Given the description of an element on the screen output the (x, y) to click on. 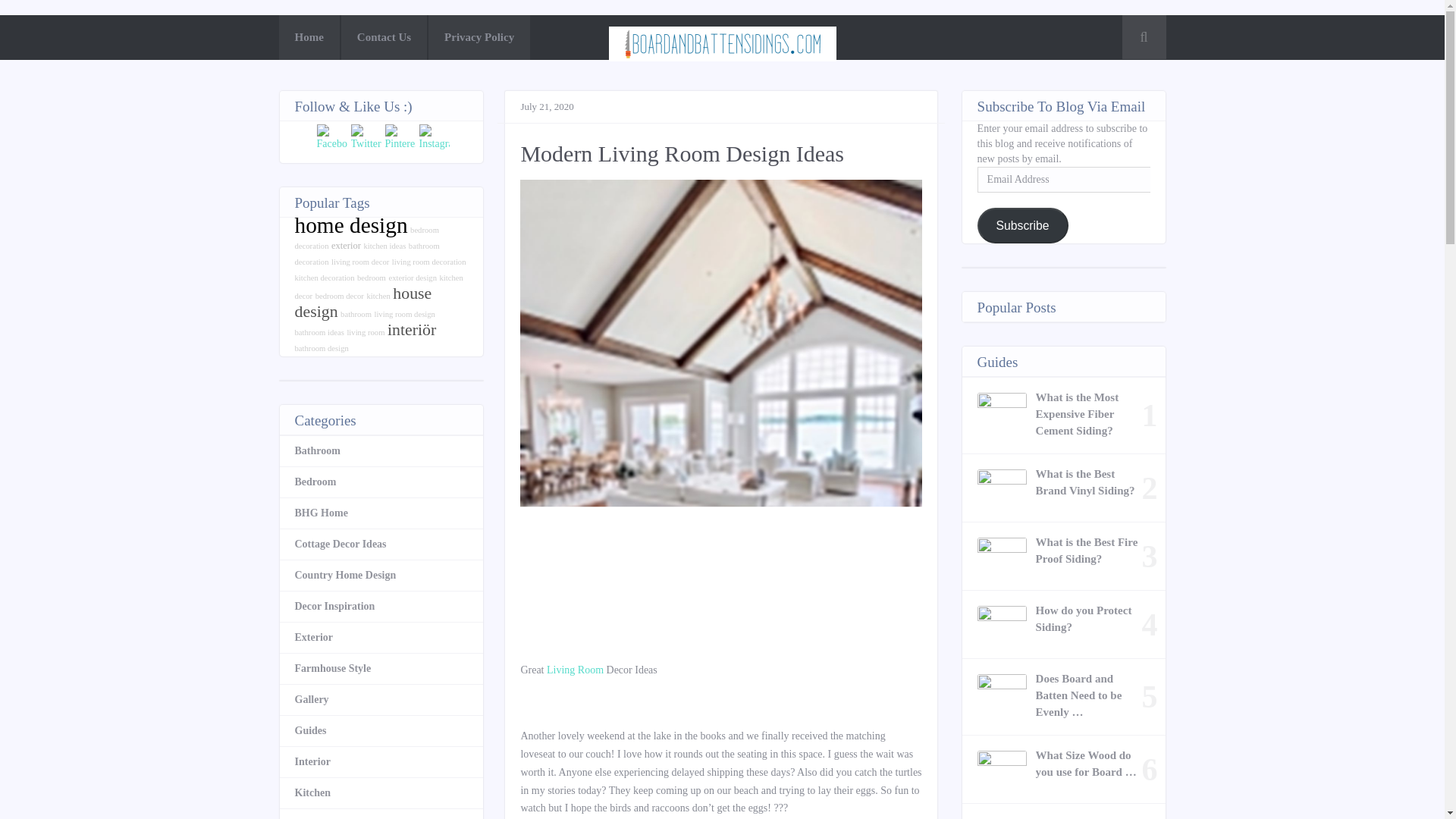
Posts tagged with living room (575, 669)
Living Room (575, 669)
Contact Us (384, 37)
Privacy Policy (479, 37)
Home (309, 37)
